Given the description of an element on the screen output the (x, y) to click on. 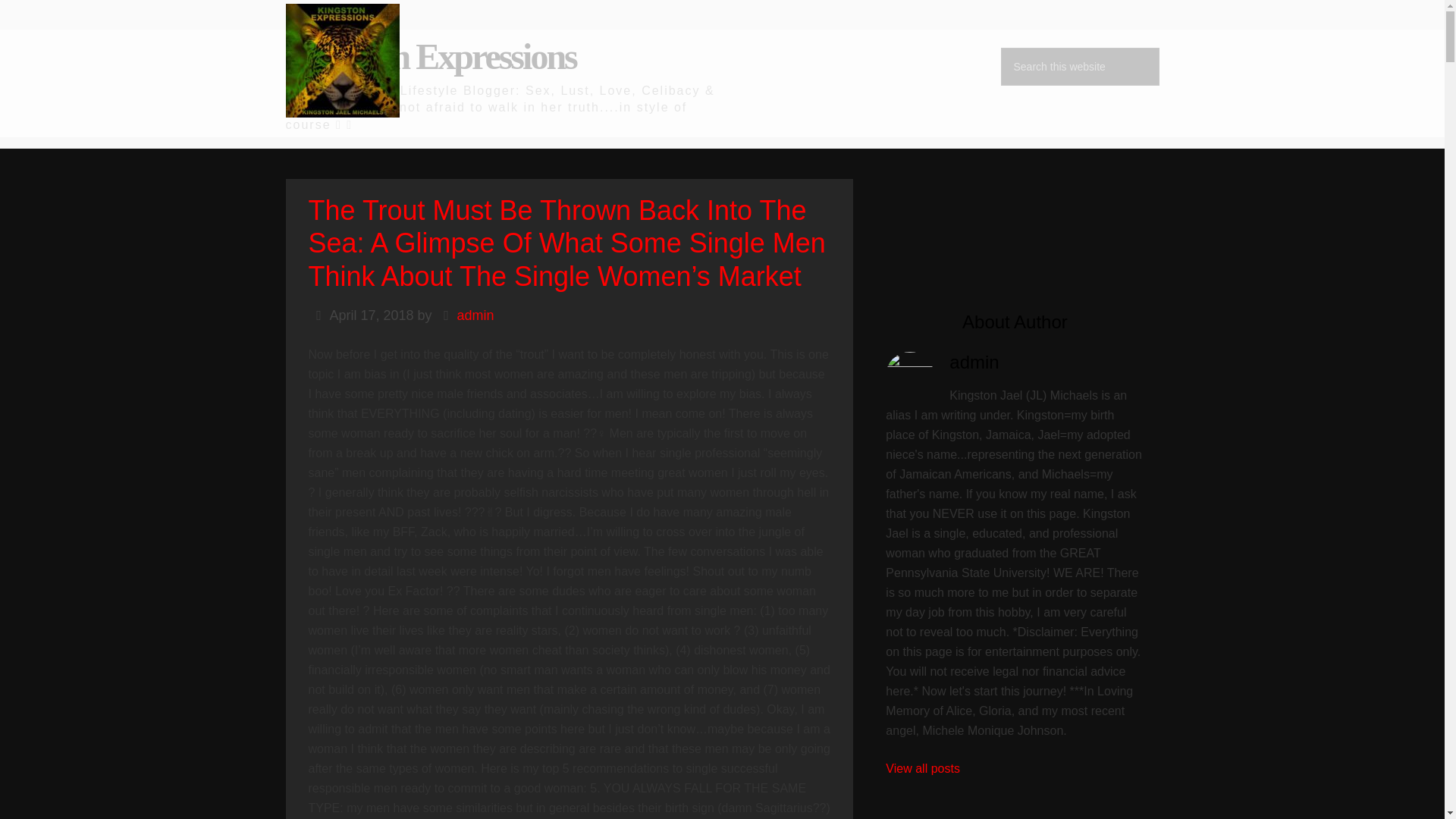
admin (476, 314)
Kingston Expressions (430, 56)
